Given the description of an element on the screen output the (x, y) to click on. 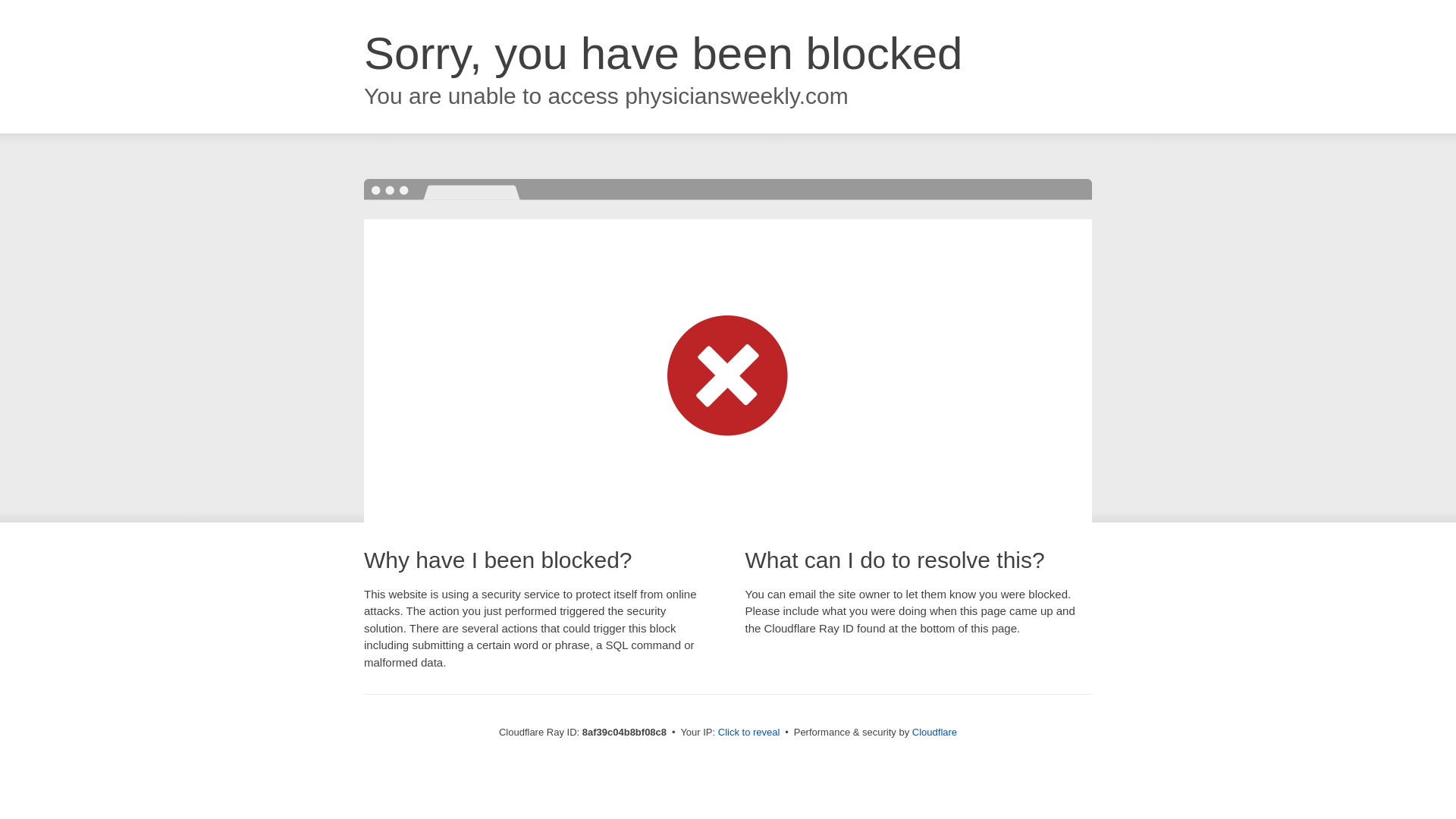
Cloudflare (934, 731)
Click to reveal (748, 732)
